Given the description of an element on the screen output the (x, y) to click on. 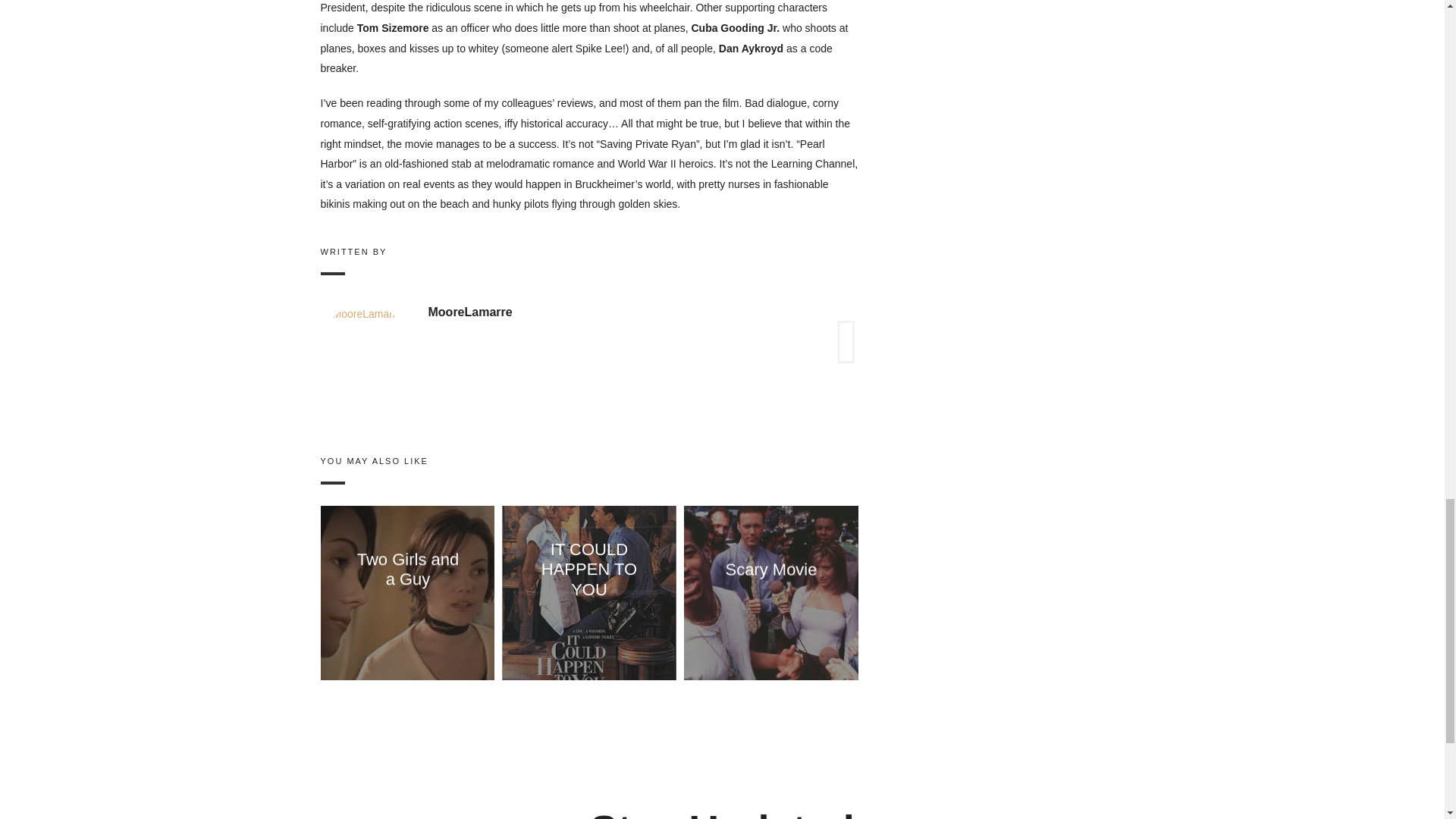
Scary Movie (770, 569)
Two Girls and a Guy (407, 568)
IT COULD HAPPEN TO YOU (589, 568)
